Given the description of an element on the screen output the (x, y) to click on. 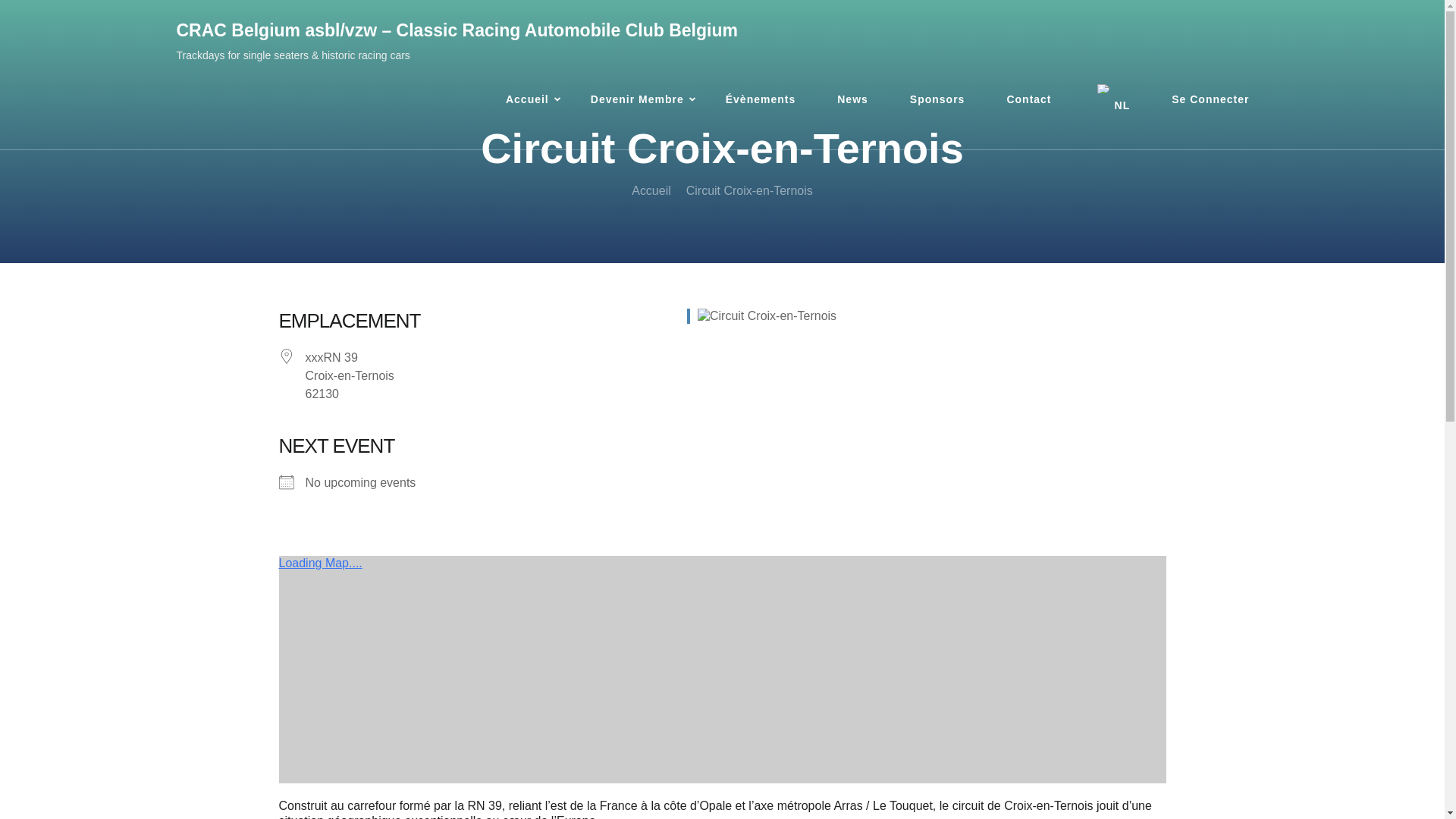
Accueil Element type: text (651, 190)
Sponsors Element type: text (937, 99)
Contact Element type: text (1028, 99)
Accueil Element type: text (526, 99)
NL Element type: text (1111, 99)
Loading Map.... Element type: text (722, 669)
News Element type: text (852, 99)
Se Connecter Element type: text (1209, 99)
Devenir Membre Element type: text (636, 99)
